Given the description of an element on the screen output the (x, y) to click on. 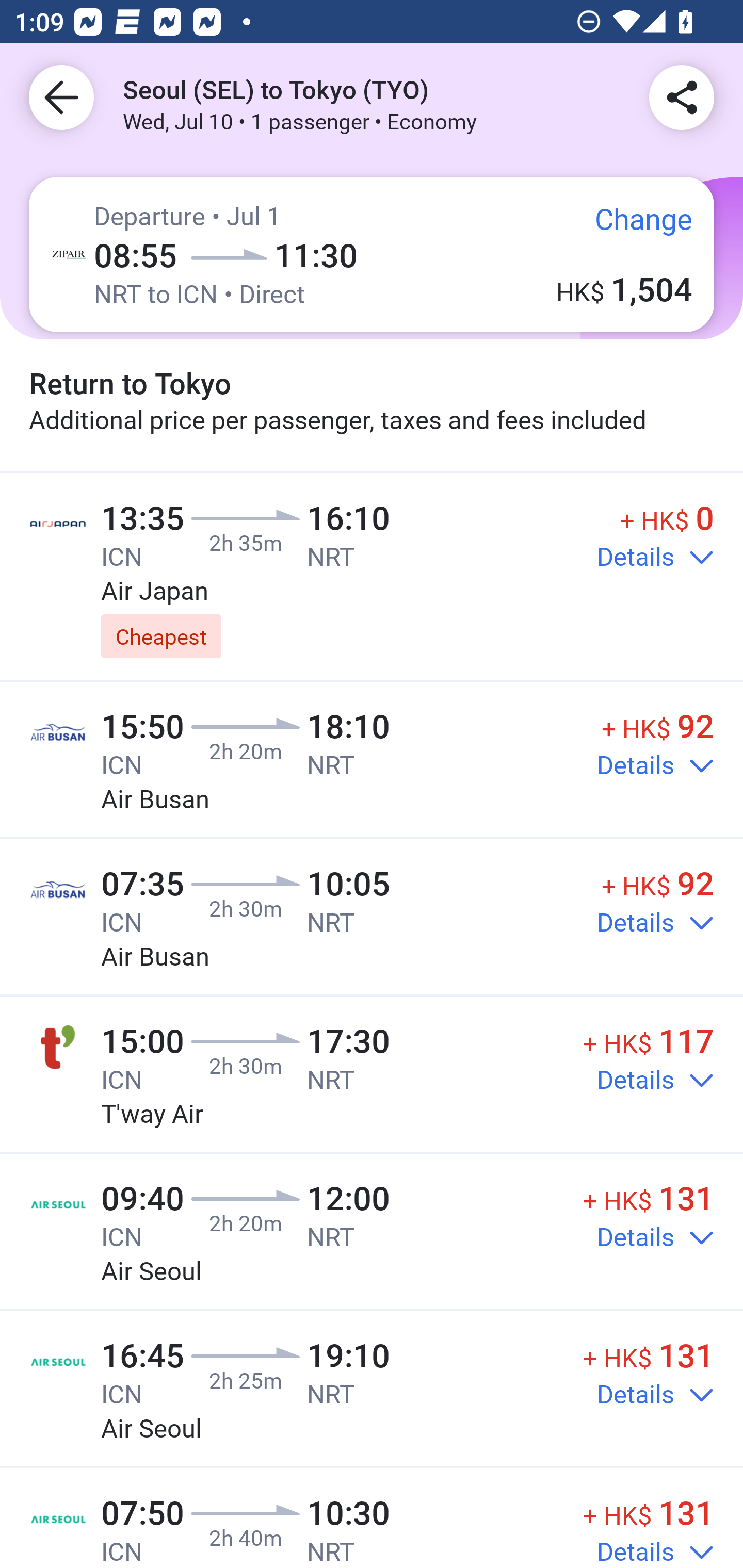
Change (629, 225)
